Given the description of an element on the screen output the (x, y) to click on. 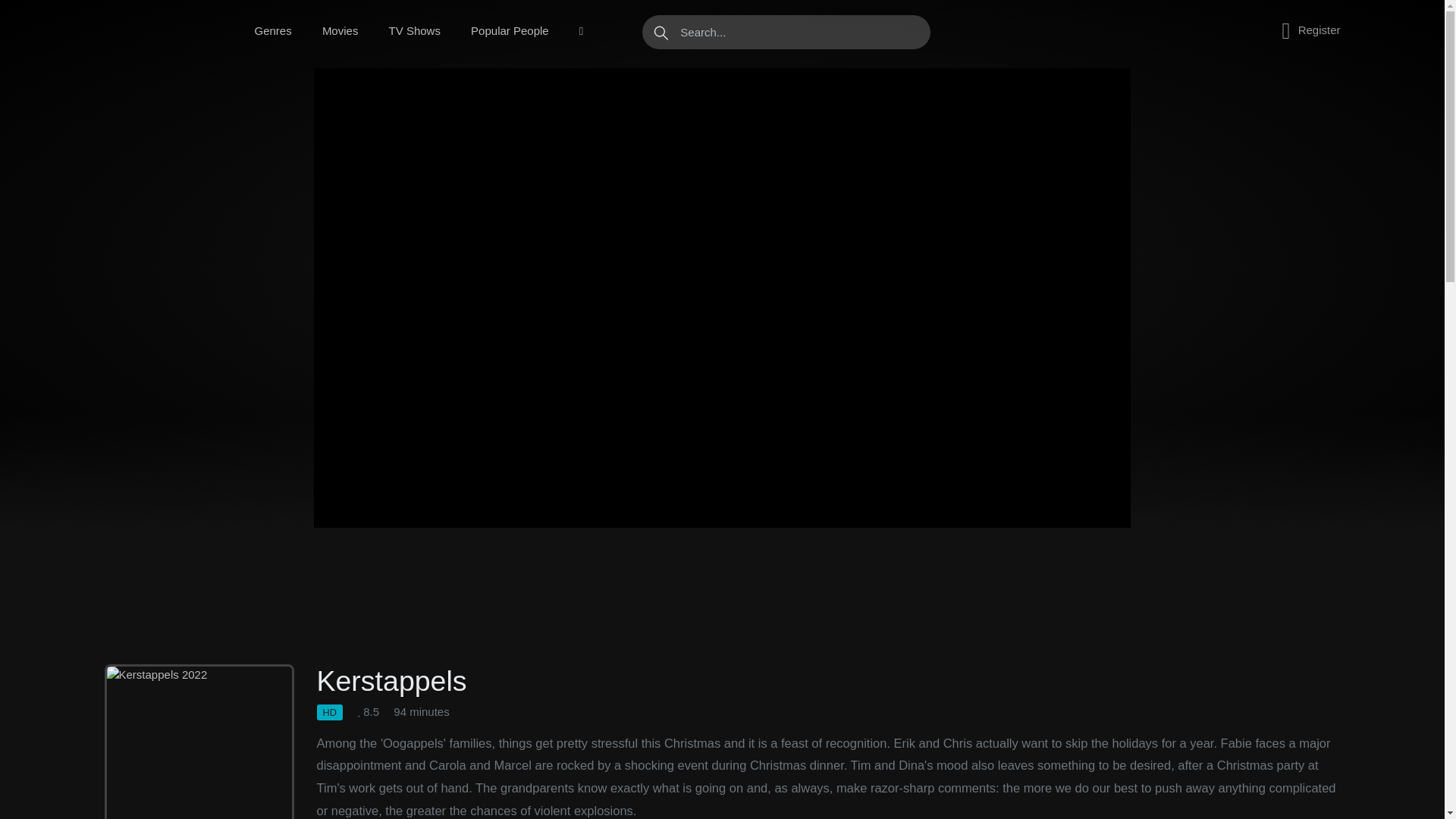
Genres (273, 31)
Movies (340, 31)
Popular People (509, 31)
Watch Movies Online Free (157, 31)
TV Shows (414, 31)
Movies (340, 31)
